Given the description of an element on the screen output the (x, y) to click on. 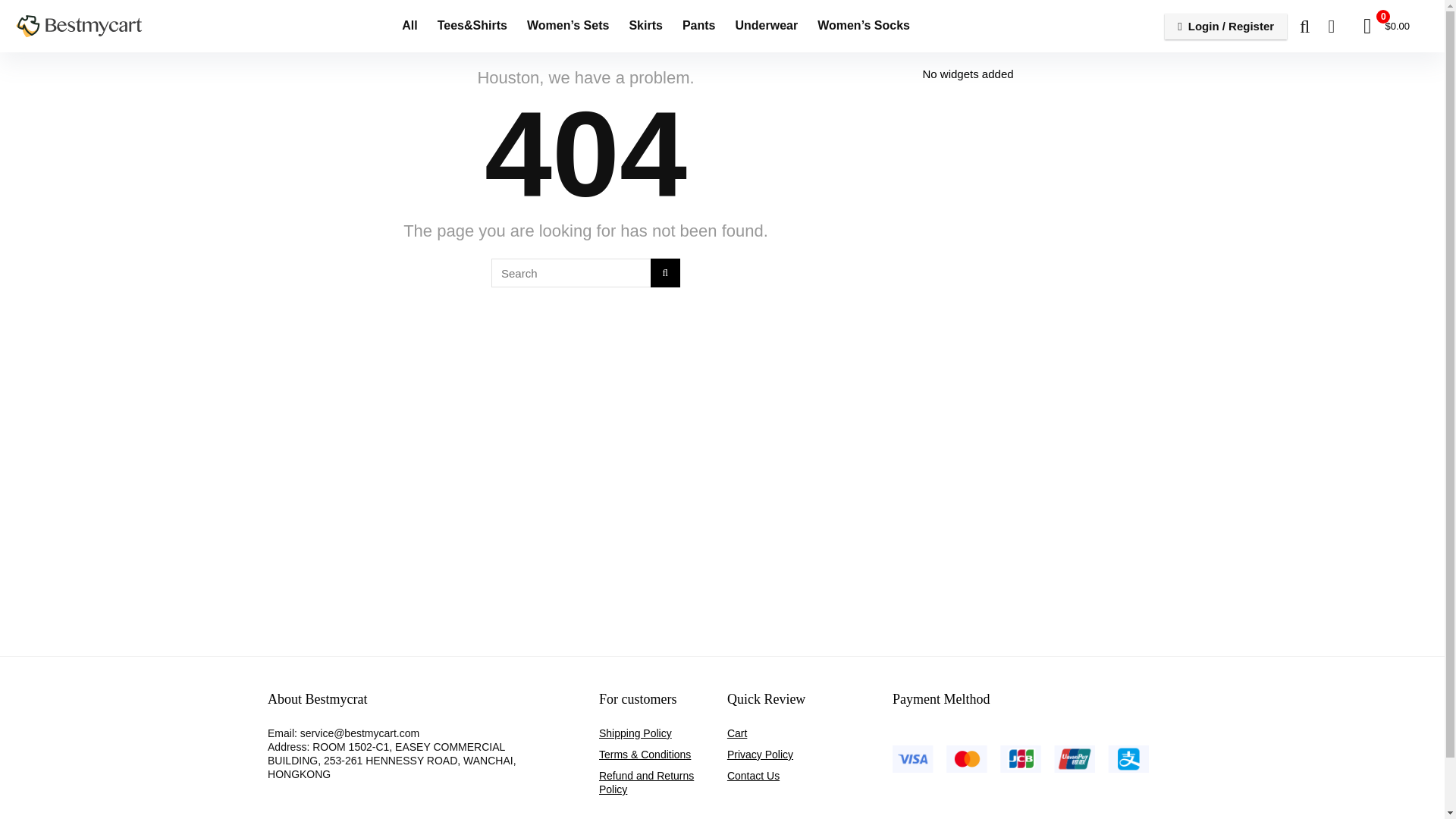
Cart (736, 733)
Pants (698, 26)
Contact Us (752, 775)
Skirts (644, 26)
Refund and Returns Policy (646, 782)
All (408, 26)
Privacy Policy (759, 754)
Shipping Policy (634, 733)
Underwear (766, 26)
